Given the description of an element on the screen output the (x, y) to click on. 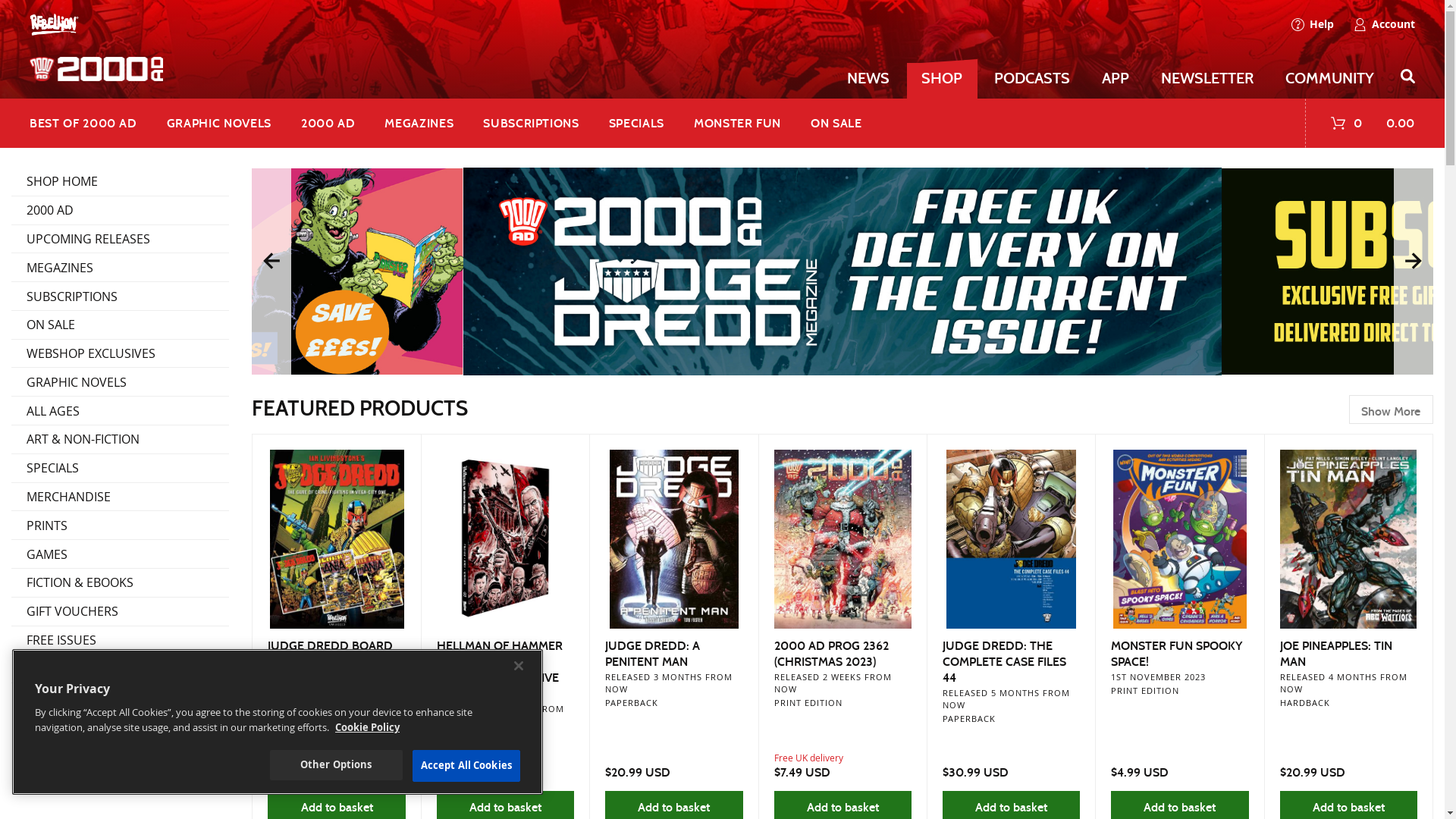
MEGAZINES Element type: text (120, 267)
NEWSLETTER Element type: text (1207, 78)
CLOTHING Element type: text (120, 697)
Accept All Cookies Element type: text (466, 765)
FICTION & EBOOKS Element type: text (120, 582)
ON SALE Element type: text (120, 324)
PRINTS Element type: text (120, 525)
MEGAZINES Element type: text (419, 122)
SHOP HOME Element type: text (120, 181)
BEST OF 2000 AD Element type: text (90, 122)
WEBSHOP EXCLUSIVES Element type: text (120, 353)
Cookie Policy Element type: text (367, 727)
Other Options Element type: text (335, 764)
SUBSCRIPTIONS Element type: text (530, 122)
FREE ISSUES Element type: text (120, 640)
GRAPHIC NOVELS Element type: text (120, 381)
ON SALE Element type: text (836, 122)
2000 AD Element type: text (327, 122)
MERCHANDISE Element type: text (120, 497)
MONSTER FUN Element type: text (736, 122)
GAMES Element type: text (120, 553)
ART & NON-FICTION Element type: text (120, 439)
UPCOMING RELEASES Element type: text (120, 239)
COMMUNITY Element type: text (1329, 78)
ALL AGES Element type: text (120, 410)
GIFT VOUCHERS Element type: text (120, 611)
APP Element type: text (1115, 78)
SUBSCRIPTIONS Element type: text (120, 296)
PODCASTS Element type: text (1032, 78)
2000 AD Element type: text (120, 210)
GIFT IDEAS Element type: text (120, 668)
SHOP Element type: text (941, 80)
Account Element type: text (1379, 24)
SPECIALS Element type: text (120, 468)
0
0.00 Element type: text (1360, 122)
NEWS Element type: text (868, 78)
SPECIALS Element type: text (635, 122)
Help Element type: text (1312, 24)
Show More Element type: text (1391, 409)
GRAPHIC NOVELS Element type: text (218, 122)
